Given the description of an element on the screen output the (x, y) to click on. 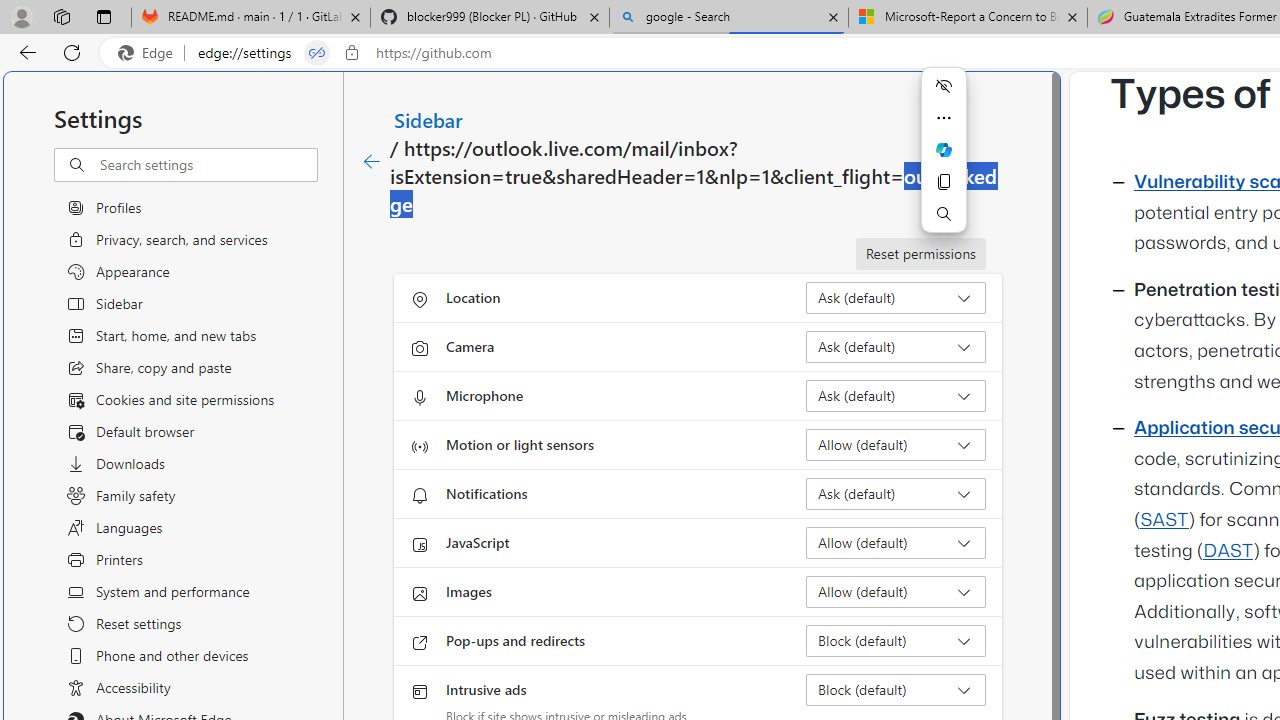
SAST (1164, 520)
Intrusive ads Block (default) (895, 689)
Ask Copilot (943, 149)
JavaScript Allow (default) (895, 542)
Images Allow (default) (895, 591)
Edge (150, 53)
Notifications Ask (default) (895, 493)
Hide menu (943, 85)
Mini menu on text selection (943, 161)
Mini menu on text selection (943, 149)
Class: c01182 (371, 161)
